Given the description of an element on the screen output the (x, y) to click on. 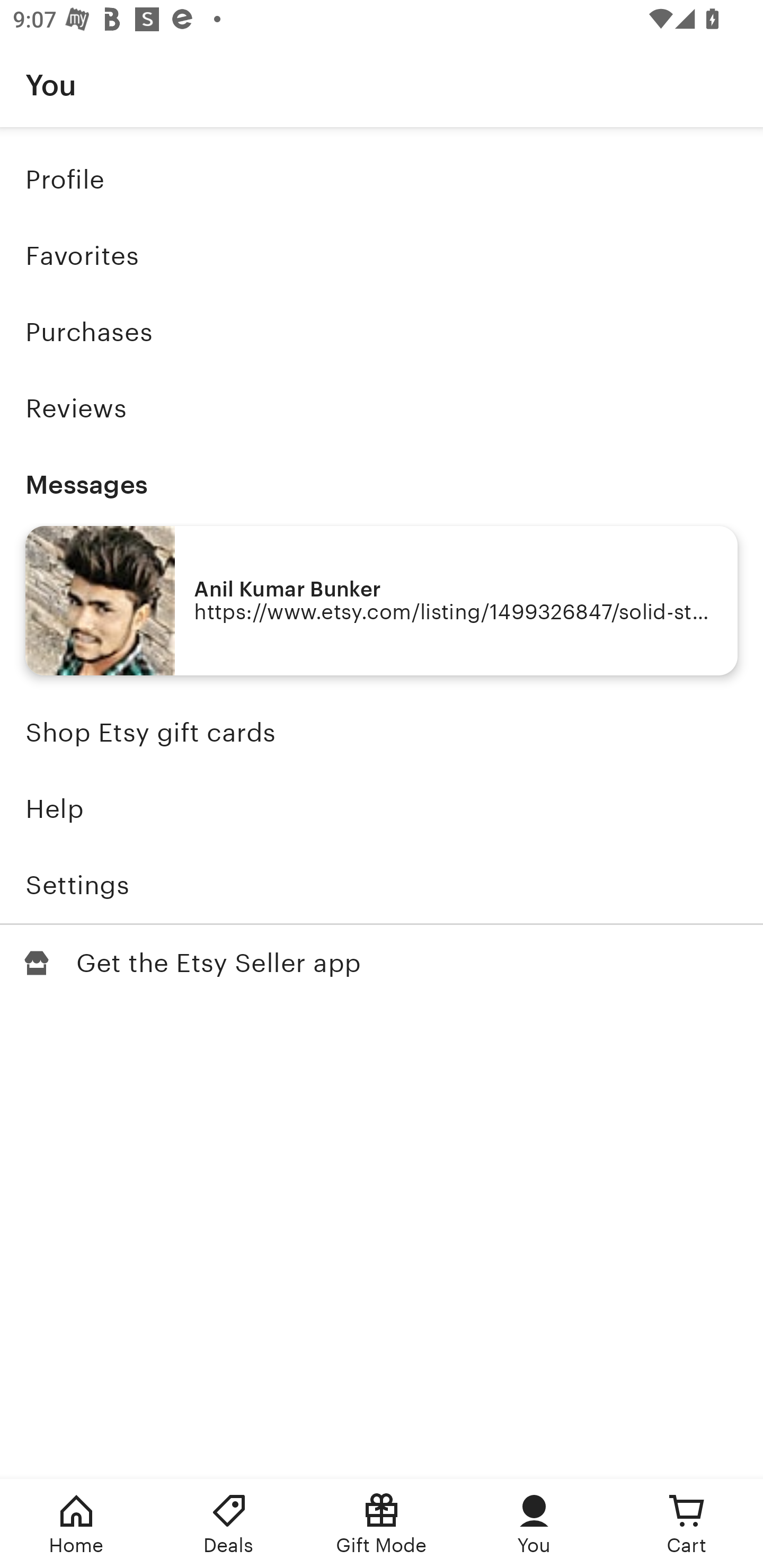
Profile (381, 179)
Favorites (381, 255)
Purchases (381, 332)
Reviews (381, 408)
Messages (381, 484)
Shop Etsy gift cards (381, 732)
Help (381, 808)
Settings (381, 884)
Get the Etsy Seller app (381, 963)
Home (76, 1523)
Deals (228, 1523)
Gift Mode (381, 1523)
Cart (686, 1523)
